Given the description of an element on the screen output the (x, y) to click on. 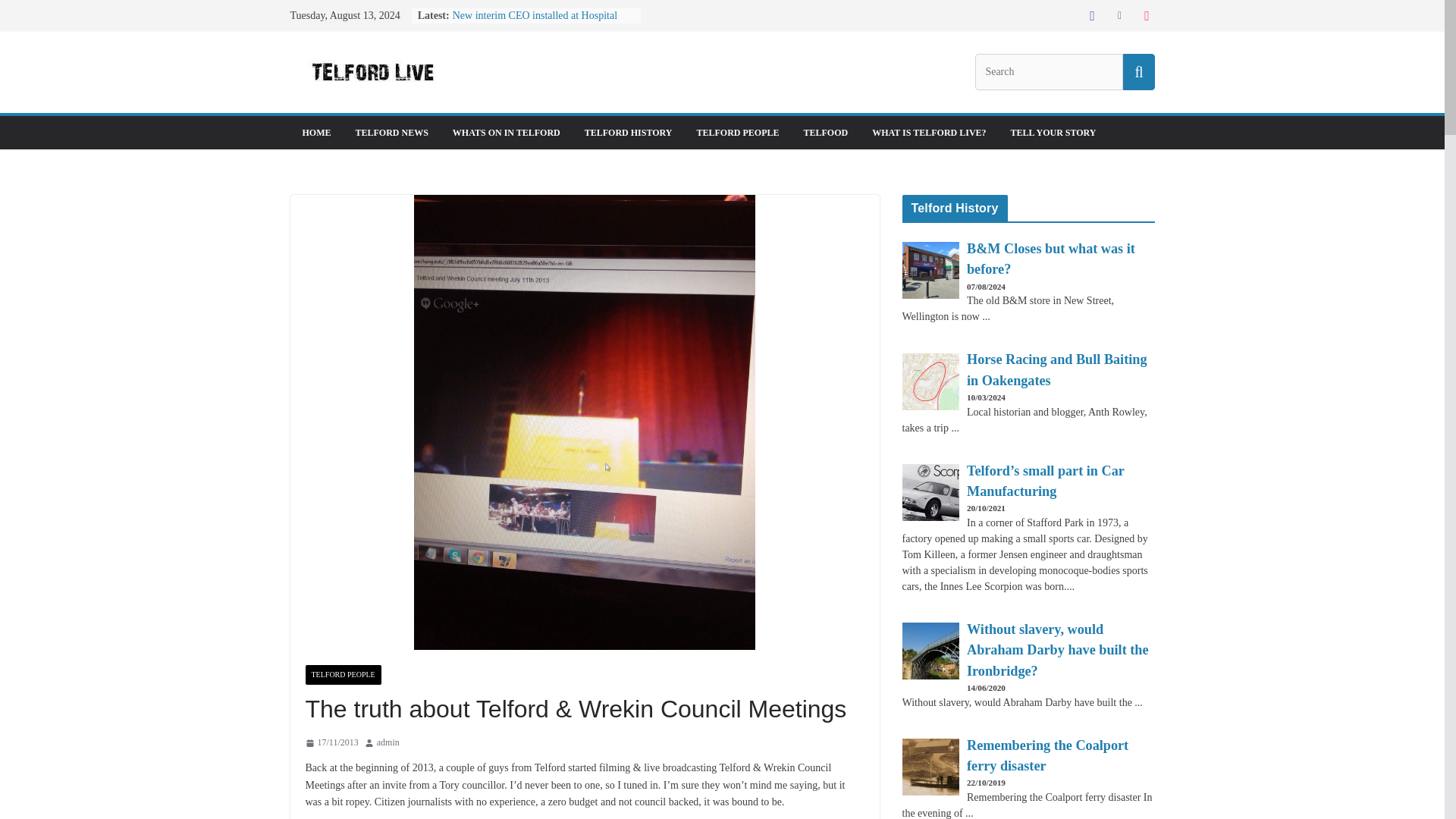
9:31 am (331, 742)
TELFORD PEOPLE (736, 132)
WHATS ON IN TELFORD (506, 132)
New interim CEO installed at Hospital Trust (534, 22)
TELL YOUR STORY (1053, 132)
HOME (315, 132)
admin (387, 742)
admin (387, 742)
TELFOOD (825, 132)
TELFORD HISTORY (628, 132)
